Given the description of an element on the screen output the (x, y) to click on. 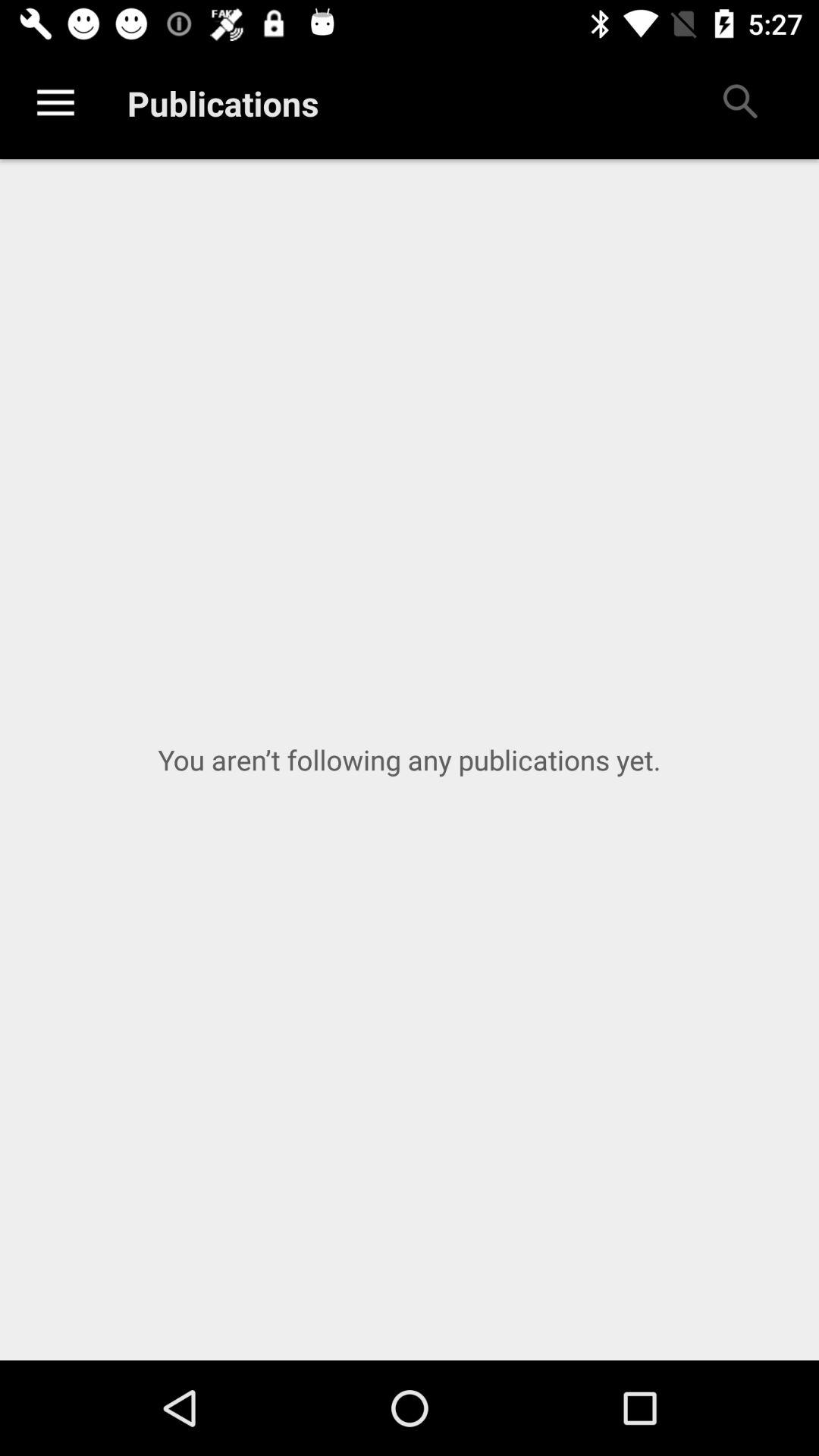
launch the item to the left of publications item (55, 103)
